Given the description of an element on the screen output the (x, y) to click on. 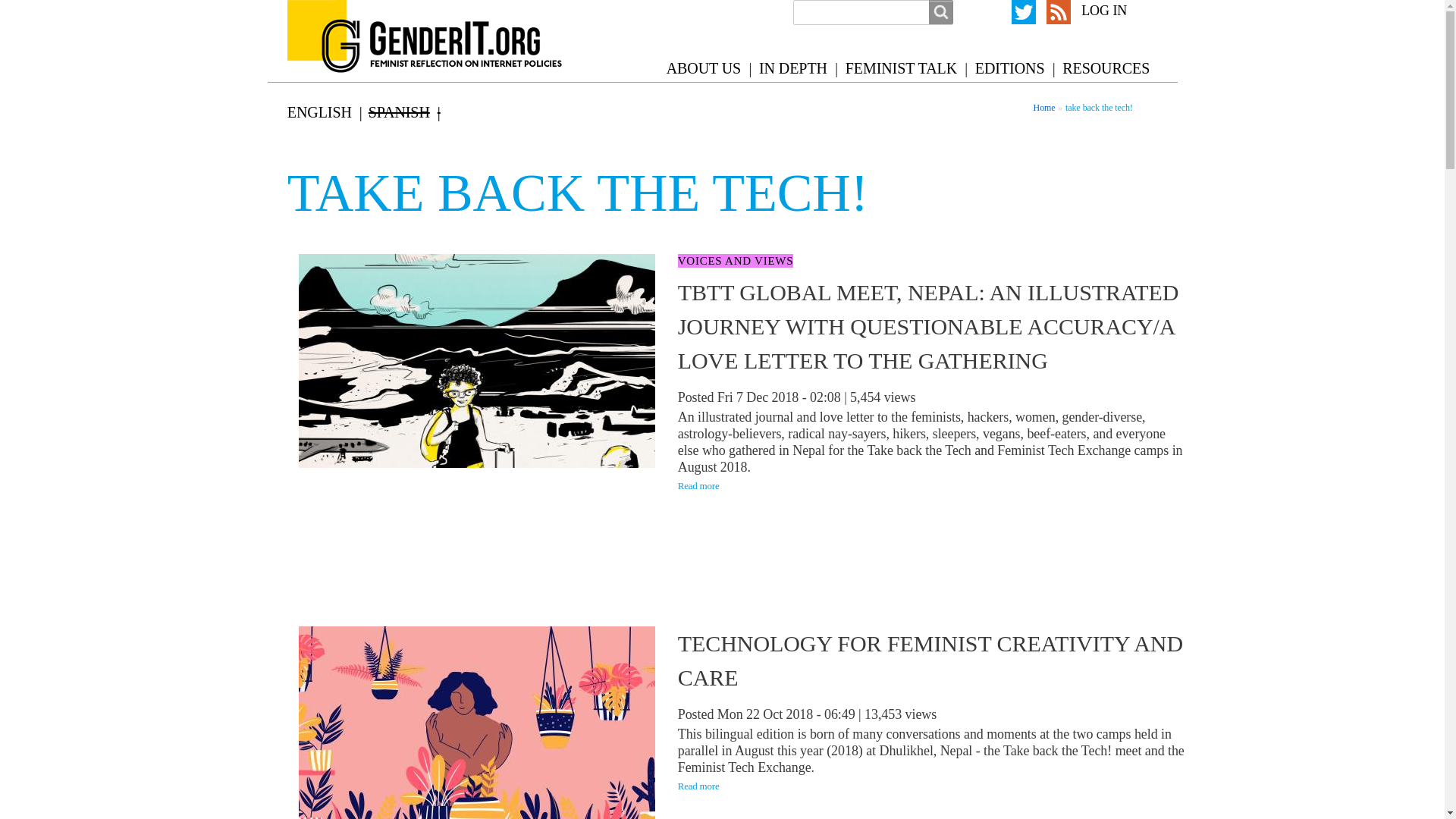
RSS Feed (1058, 12)
LOG IN (1103, 10)
Search (940, 12)
FEMINIST TALK (900, 68)
GenderIT.org on Twitter (1023, 12)
RESOURCES (1105, 68)
RSS Feed (1058, 12)
Search (940, 12)
EDITIONS (1009, 68)
Enter the terms you wish to search for. (873, 12)
Home (1044, 107)
GenderIT.org on Twitter (1023, 12)
ABOUT US (703, 68)
Read more (698, 485)
Home (442, 40)
